Given the description of an element on the screen output the (x, y) to click on. 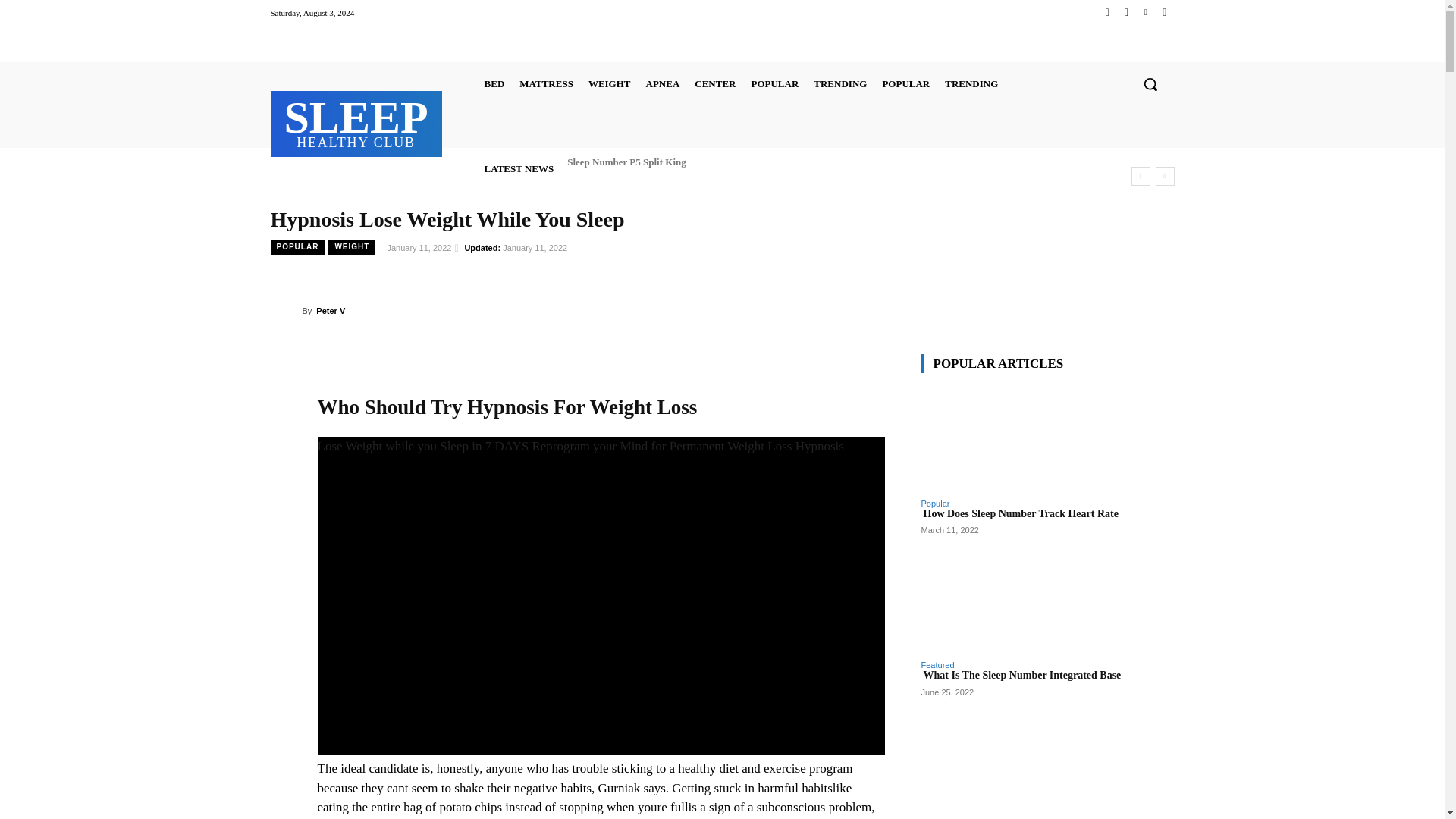
Youtube (1163, 12)
Twitter (1144, 12)
Facebook (1106, 12)
BED (495, 83)
Instagram (1125, 12)
Sleep Number P5 Split King (626, 161)
MATTRESS (356, 122)
